Given the description of an element on the screen output the (x, y) to click on. 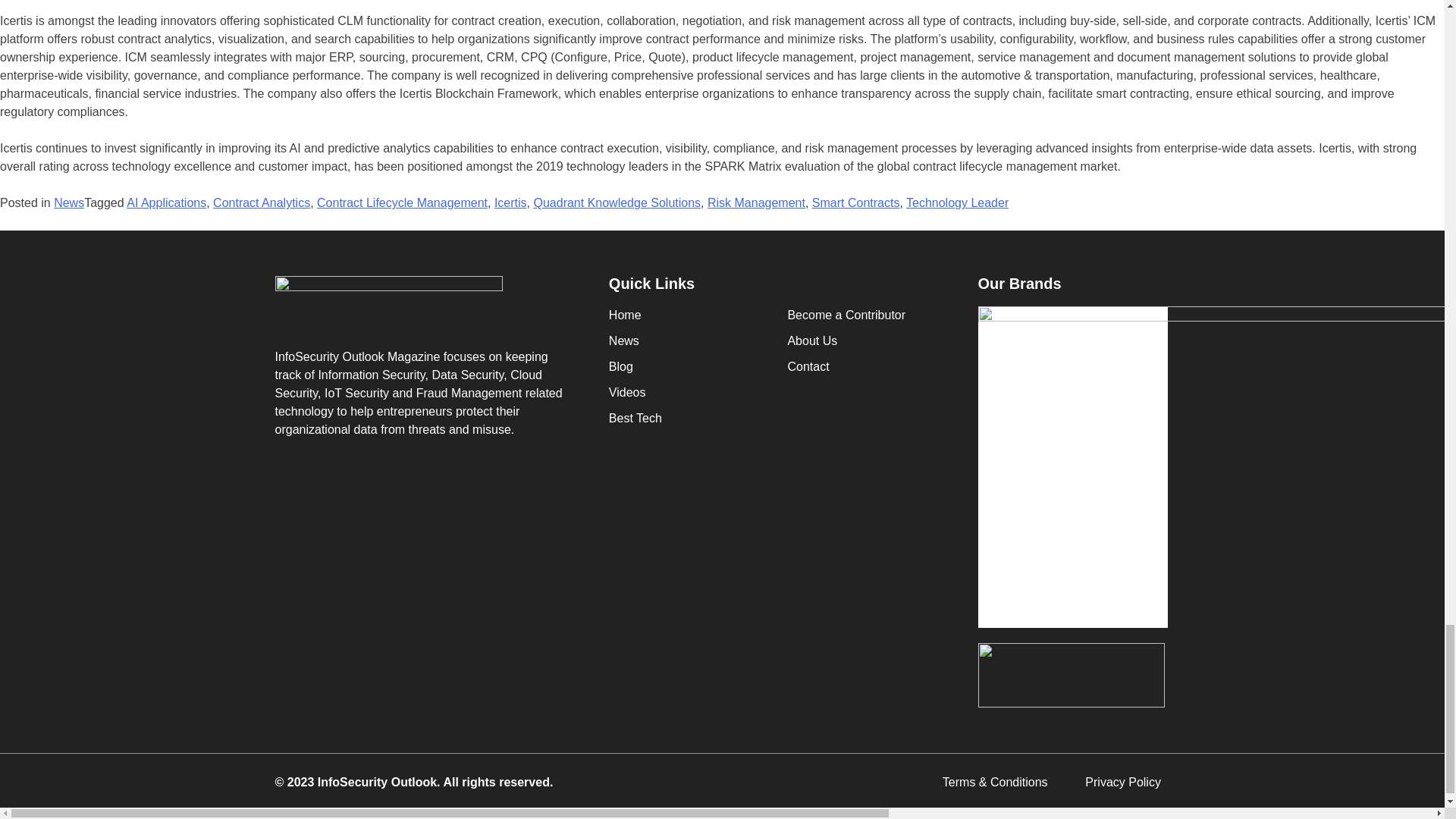
News (68, 202)
Contract Analytics (261, 202)
Contract Lifecycle Management (402, 202)
AI Applications (166, 202)
